Given the description of an element on the screen output the (x, y) to click on. 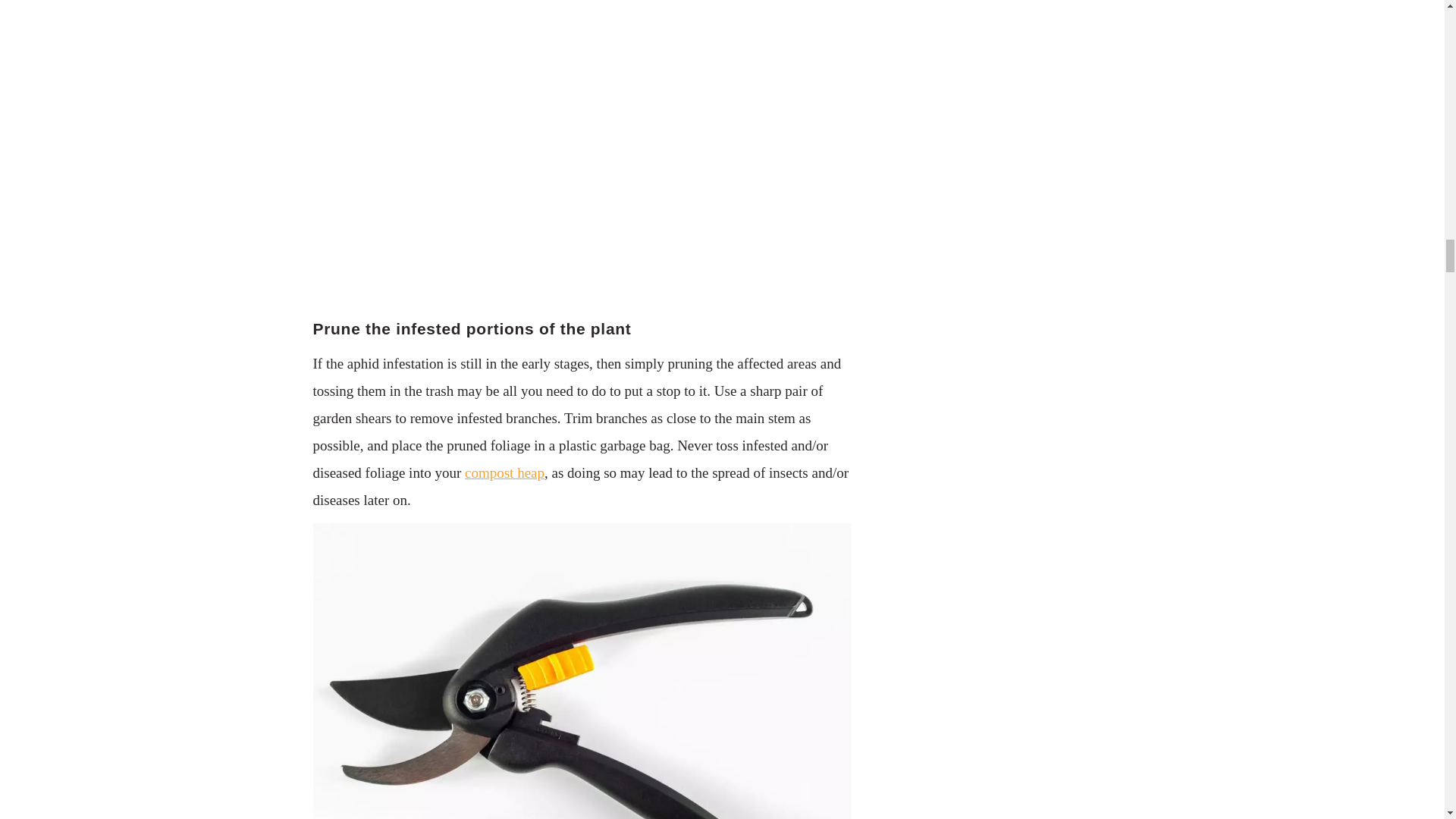
compost heap (504, 472)
